Given the description of an element on the screen output the (x, y) to click on. 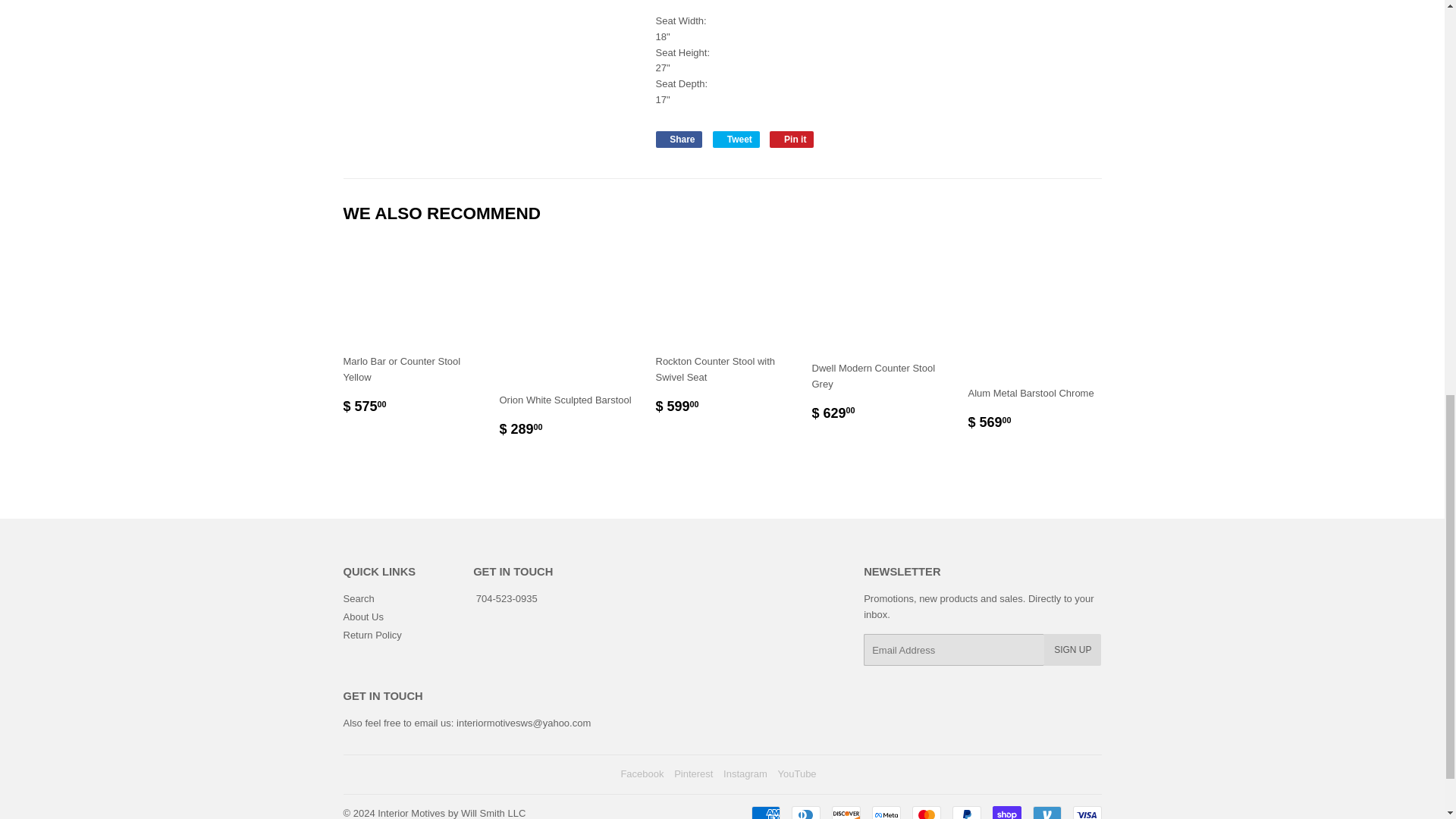
PayPal (966, 812)
American Express (736, 139)
Pin on Pinterest (764, 812)
Tweet on Twitter (791, 139)
Shop Pay (736, 139)
Interior Motives by Will Smith LLC on Instagram (1005, 812)
Mastercard (745, 773)
Discover (678, 139)
